Given the description of an element on the screen output the (x, y) to click on. 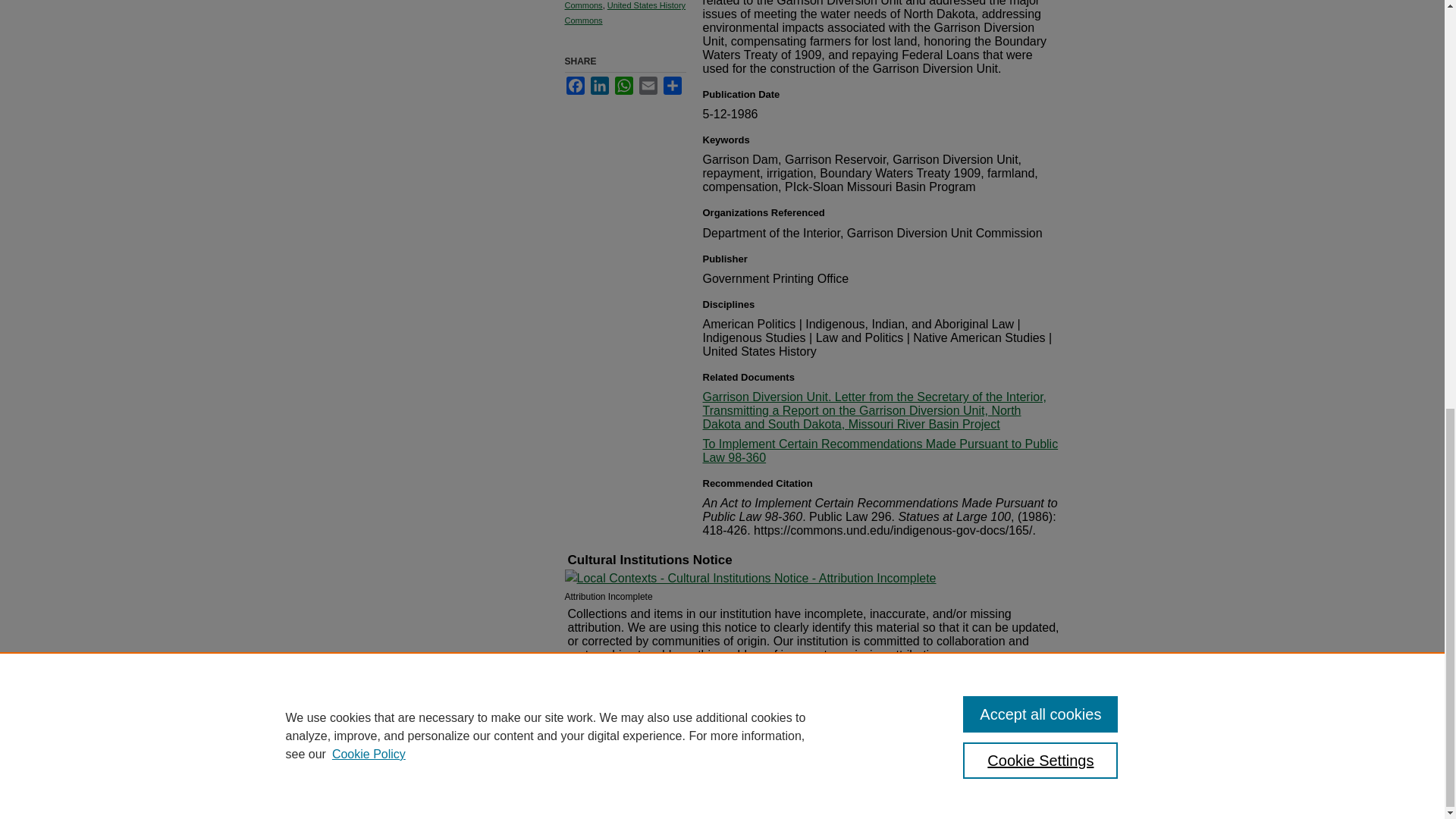
Facebook (574, 85)
United States History Commons (624, 12)
Native American Studies Commons (609, 5)
LinkedIn (599, 85)
Native American Studies Commons (609, 5)
